Given the description of an element on the screen output the (x, y) to click on. 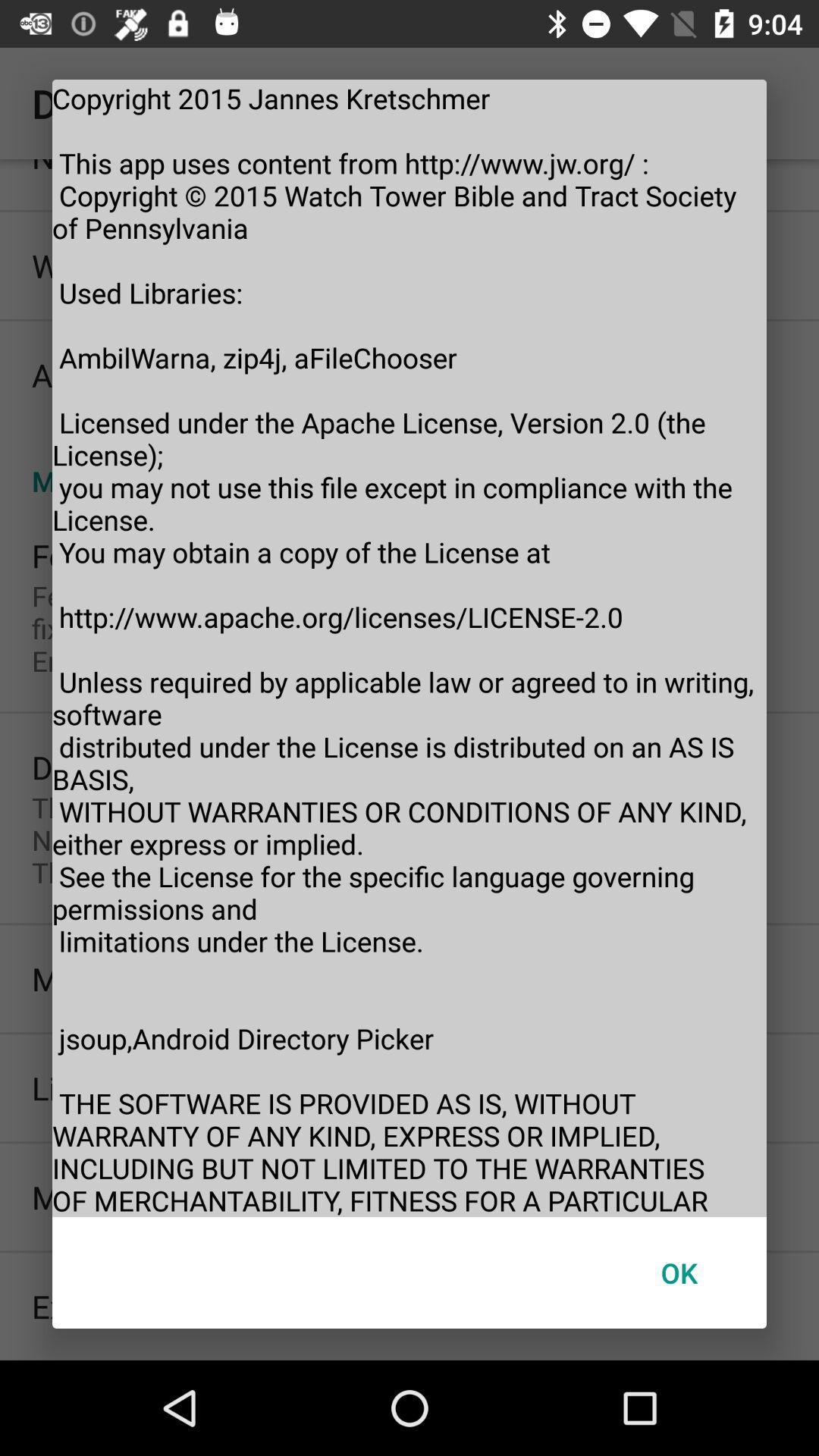
click item below the copyright 2015 jannes icon (678, 1272)
